Given the description of an element on the screen output the (x, y) to click on. 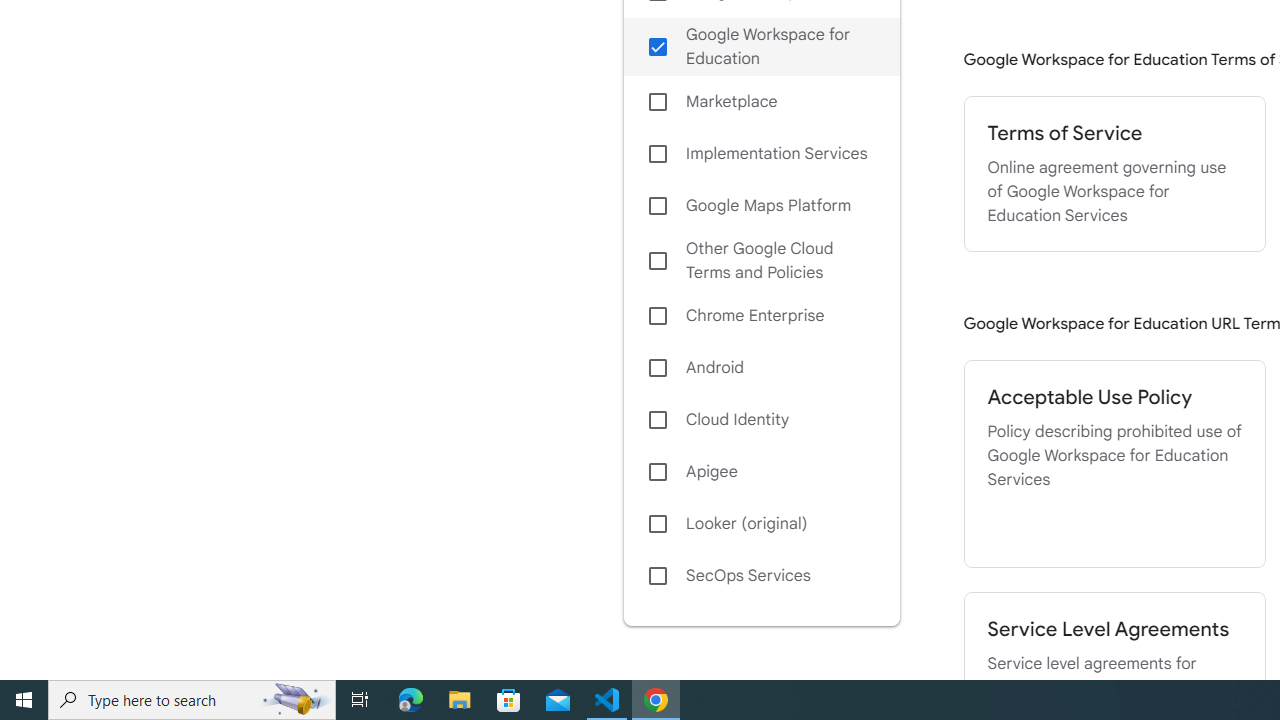
Chrome Enterprise (761, 316)
Implementation Services (761, 154)
Looker (original) (761, 524)
Cloud Identity (761, 419)
Android (761, 367)
Google Workspace for Education (761, 47)
Marketplace (761, 102)
SecOps Services (761, 575)
Google Maps Platform (761, 205)
Apigee (761, 471)
Other Google Cloud Terms and Policies (761, 260)
